Given the description of an element on the screen output the (x, y) to click on. 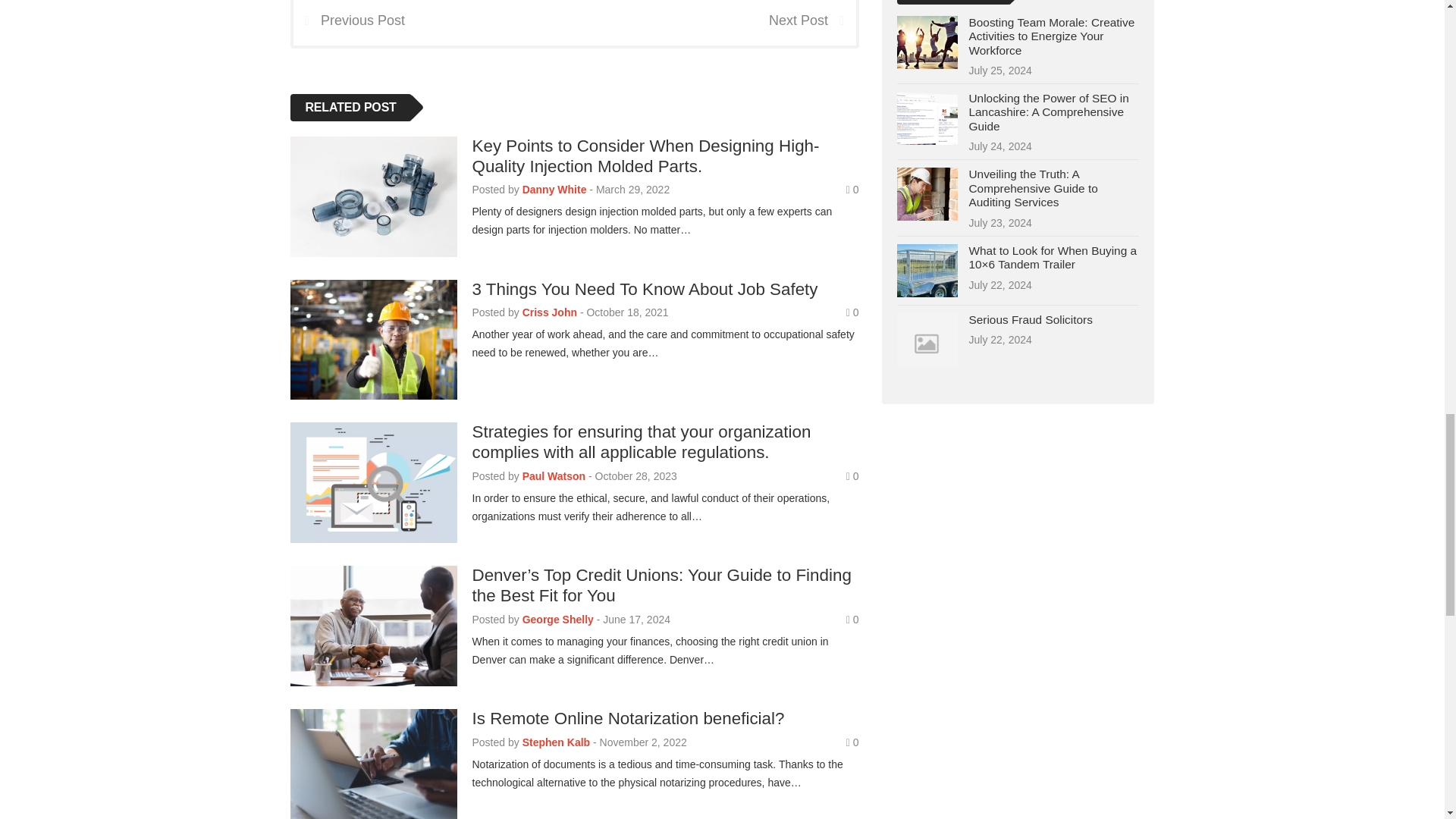
Posts by Criss John (549, 312)
Posts by Stephen Kalb (555, 742)
Posts by George Shelly (558, 619)
Posts by Danny White (554, 189)
Posts by Paul Watson (554, 476)
